Given the description of an element on the screen output the (x, y) to click on. 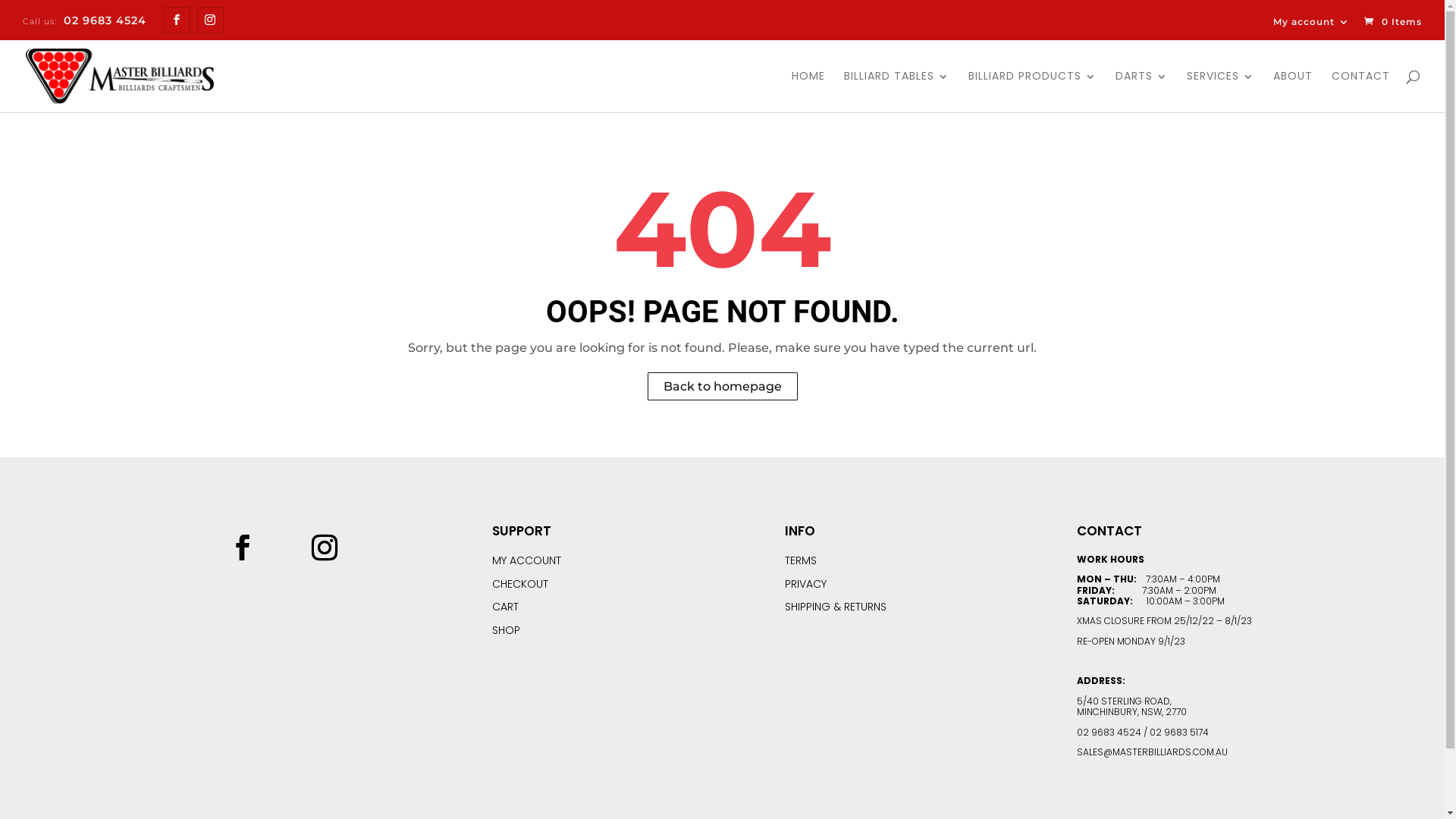
CART Element type: text (505, 606)
MY ACCOUNT Element type: text (526, 559)
DARTS Element type: text (1141, 91)
Follow on Instagram Element type: hover (324, 547)
HOME Element type: text (808, 91)
SHIPPING & RETURNS Element type: text (835, 606)
0 Items Element type: text (1391, 21)
PRIVACY Element type: text (805, 583)
SERVICES Element type: text (1220, 91)
CONTACT Element type: text (1360, 91)
Follow on Facebook Element type: hover (242, 547)
My account Element type: text (1311, 21)
BILLIARD PRODUCTS Element type: text (1032, 91)
Back to homepage Element type: text (722, 386)
ABOUT Element type: text (1292, 91)
SHOP Element type: text (506, 629)
BILLIARD TABLES Element type: text (896, 91)
CHECKOUT Element type: text (520, 583)
TERMS Element type: text (800, 559)
